Given the description of an element on the screen output the (x, y) to click on. 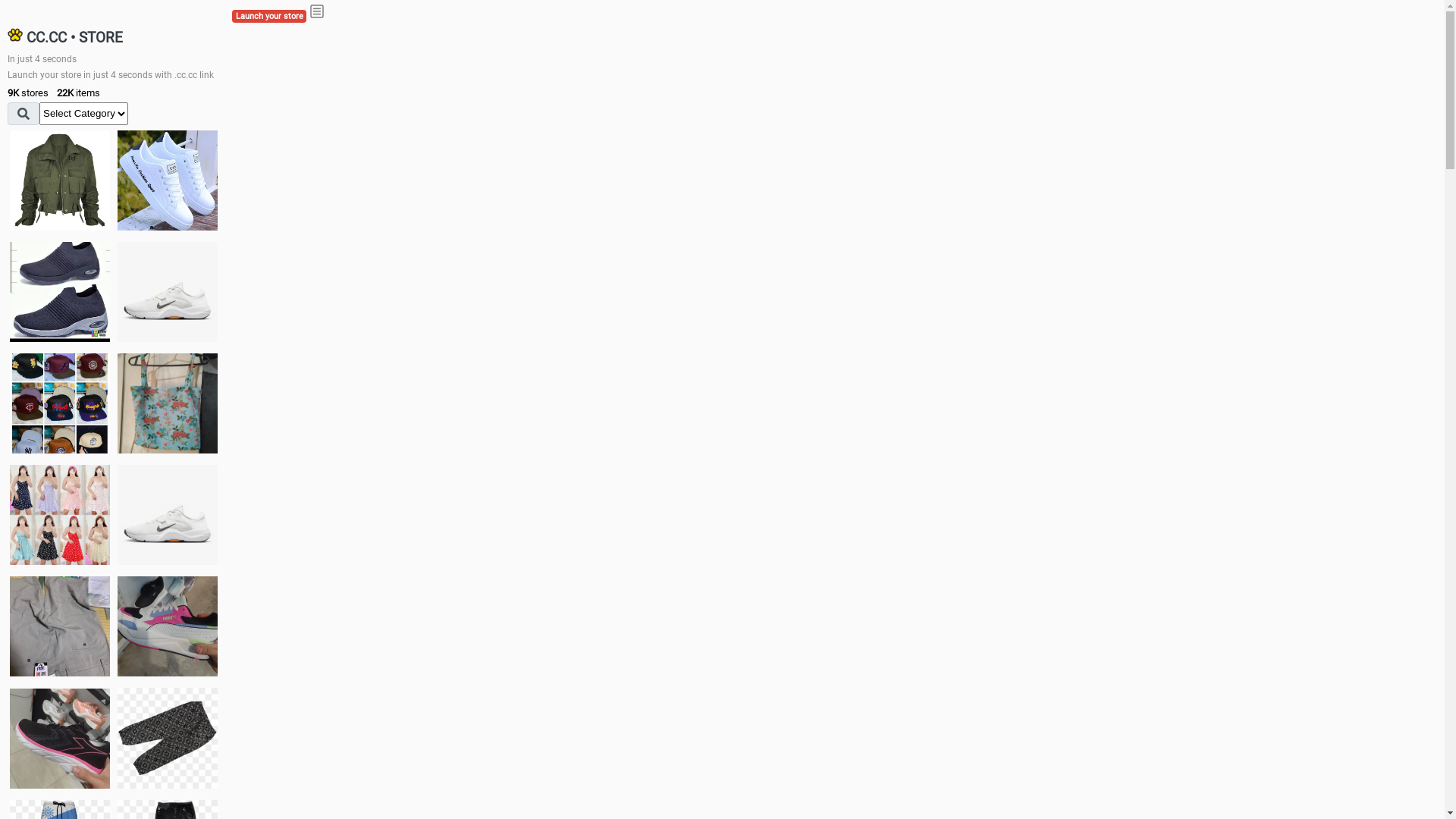
Shoes Element type: hover (167, 514)
Short pant Element type: hover (167, 737)
Dress/square nect top Element type: hover (59, 514)
Launch your store Element type: text (269, 15)
Shoes for boys Element type: hover (167, 291)
shoes for boys Element type: hover (59, 291)
Things we need Element type: hover (59, 403)
Zapatillas pumas Element type: hover (167, 626)
jacket Element type: hover (59, 180)
Ukay cloth Element type: hover (167, 403)
white shoes Element type: hover (167, 180)
Zapatillas Element type: hover (59, 738)
